Given the description of an element on the screen output the (x, y) to click on. 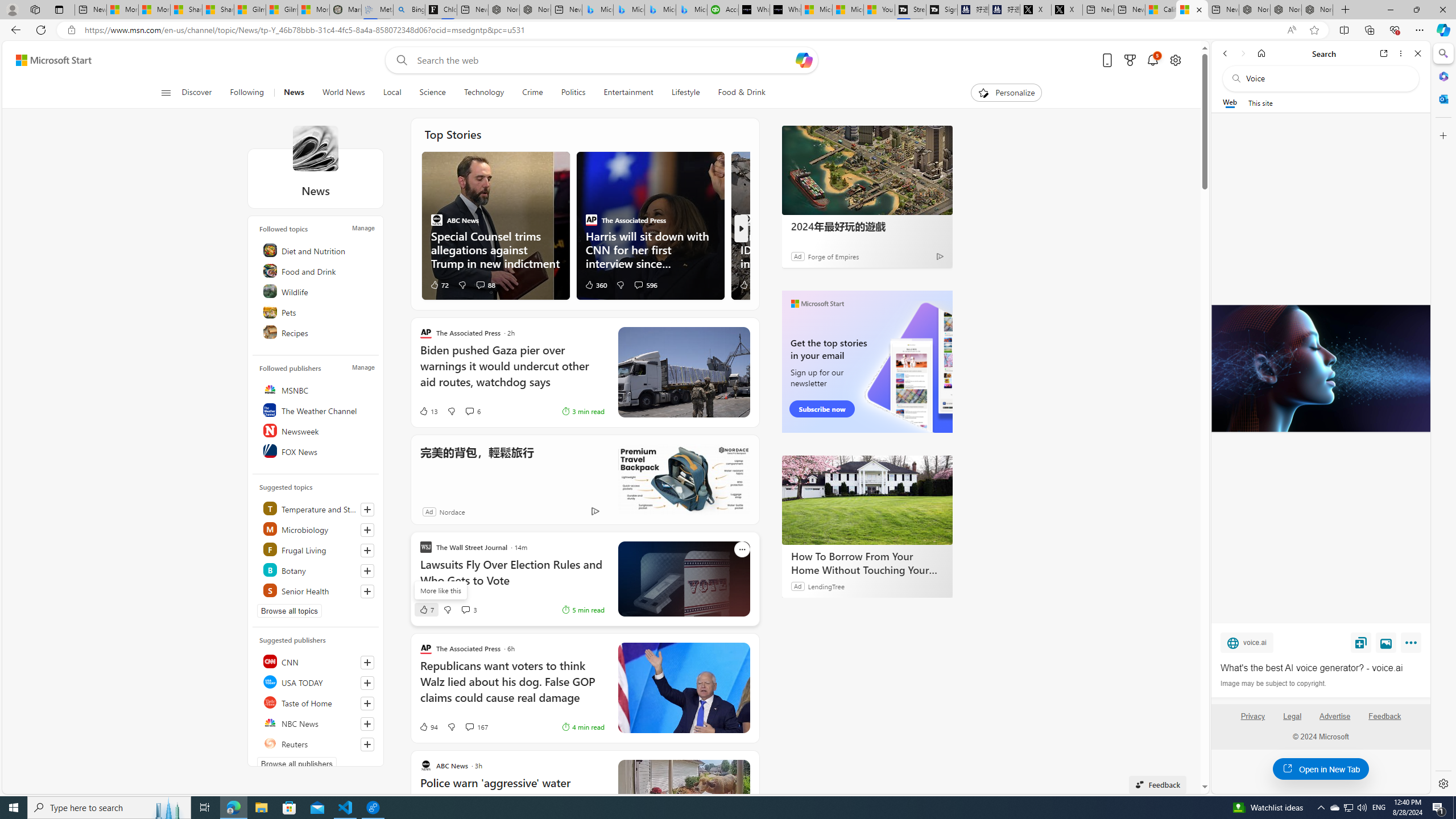
Accounting Software for Accountants, CPAs and Bookkeepers (722, 9)
Nordace - Best Sellers (1254, 9)
Follow this topic (367, 591)
Manage (362, 367)
Manatee Mortality Statistics | FWC (345, 9)
Politics (573, 92)
Follow this source (367, 744)
